Given the description of an element on the screen output the (x, y) to click on. 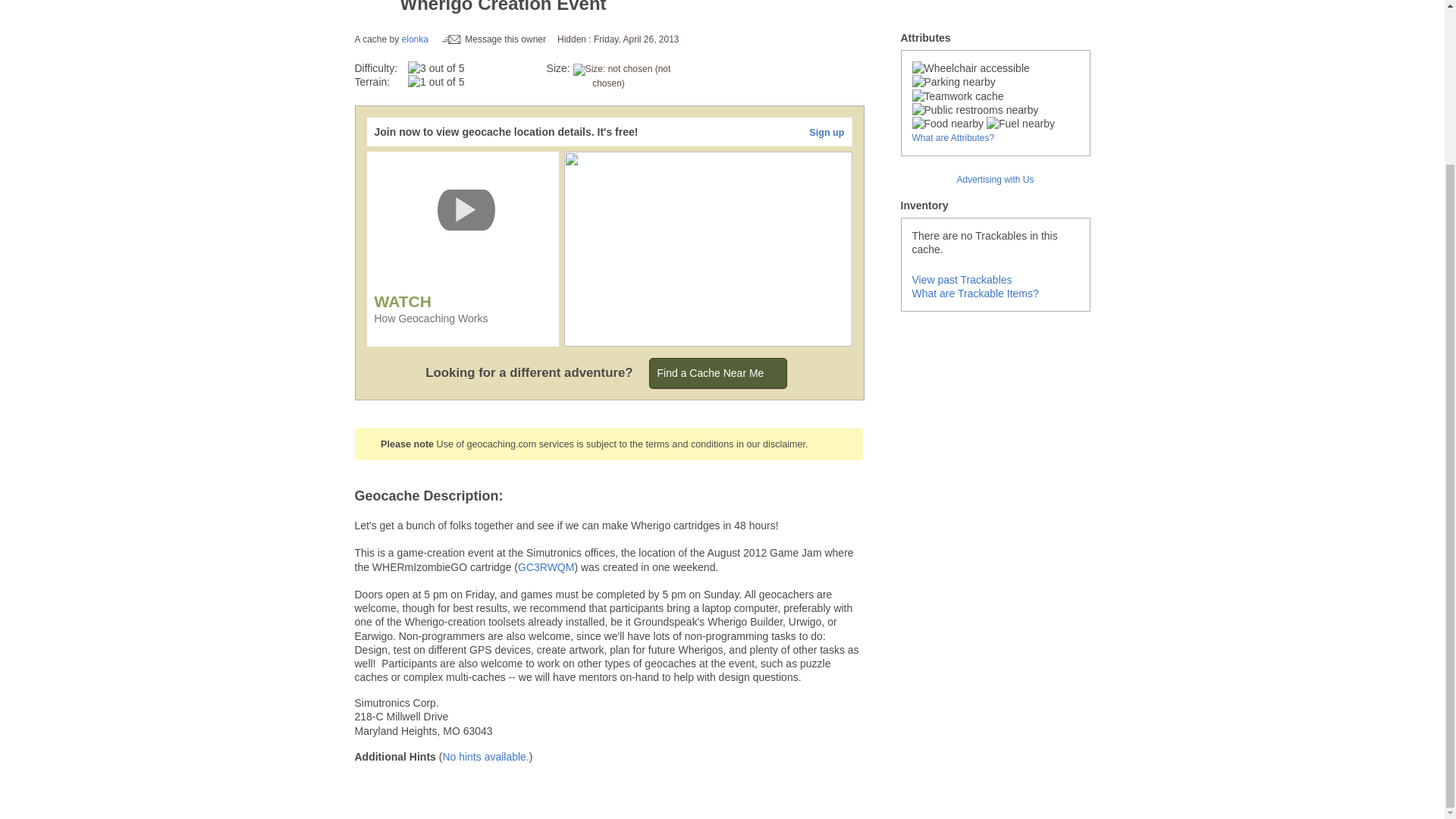
Sign up (826, 132)
Parking nearby (952, 81)
Event Cache (373, 11)
What are Attributes? (952, 137)
Decrypt (485, 756)
Find a Cache Near Me (718, 372)
GC3RWQM (545, 567)
Message this owner (494, 39)
Public restrooms nearby (974, 110)
Food nearby (947, 123)
